Given the description of an element on the screen output the (x, y) to click on. 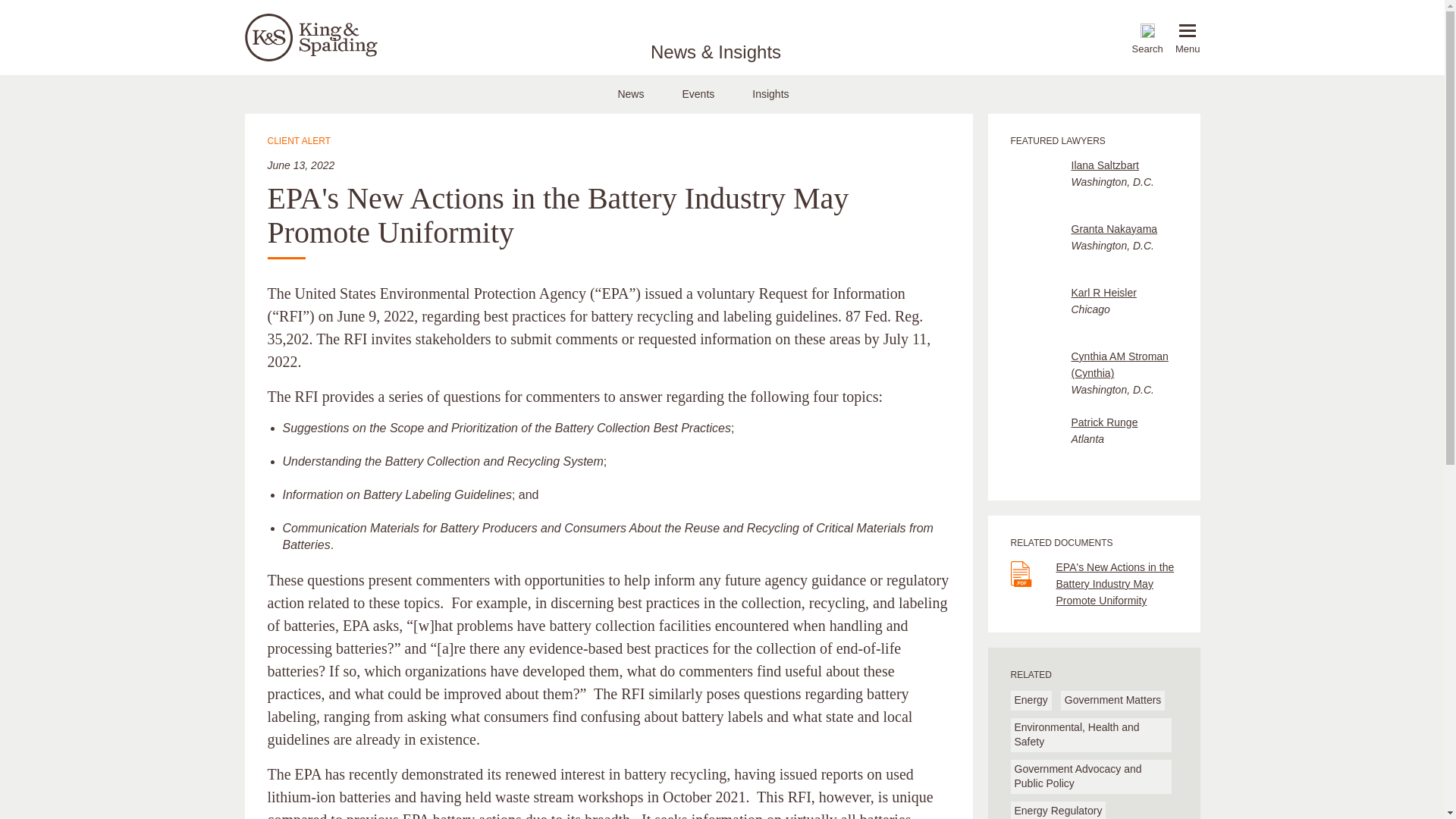
toggle menu (1187, 29)
